Given the description of an element on the screen output the (x, y) to click on. 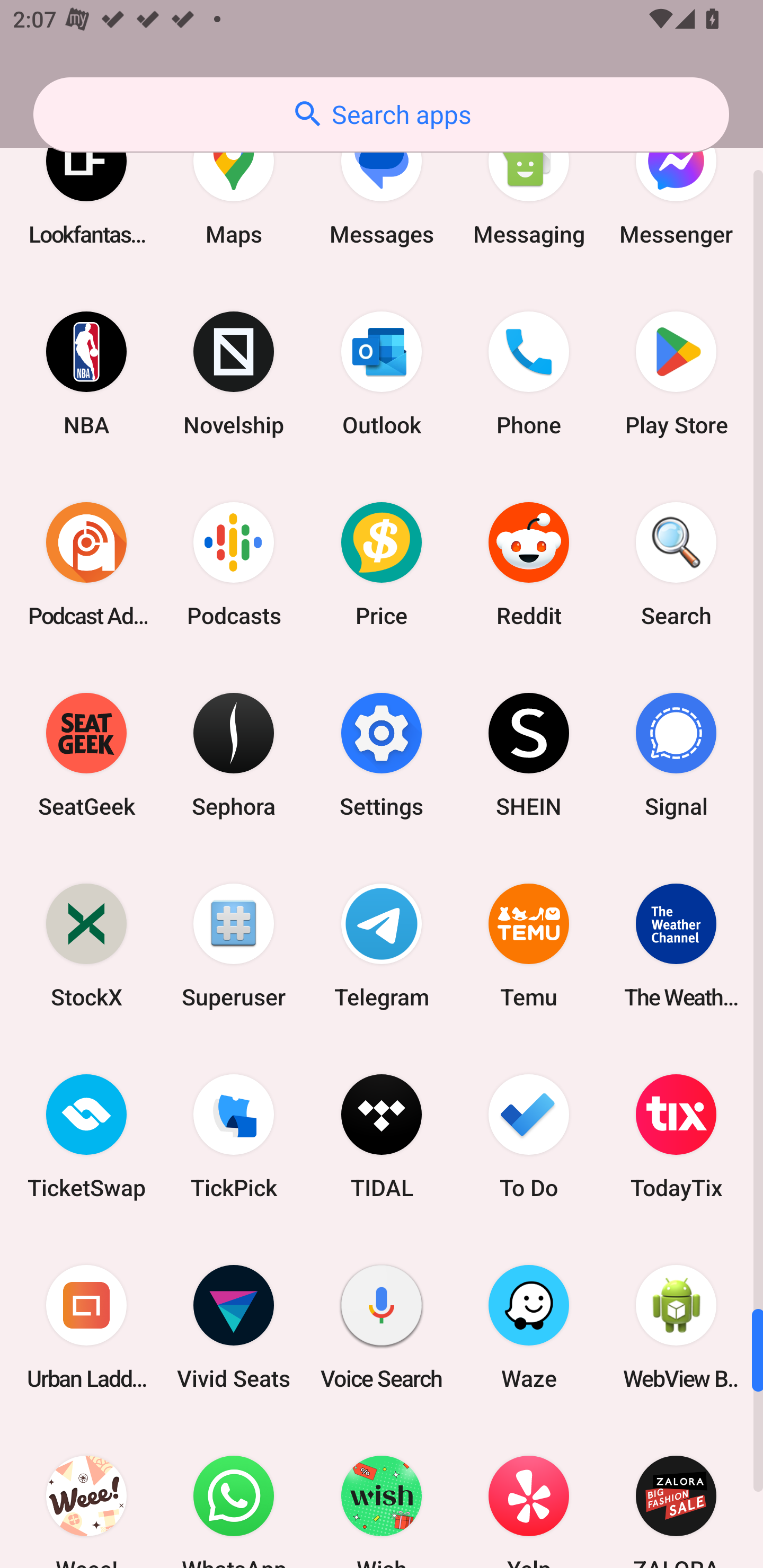
Signal (676, 754)
